Given the description of an element on the screen output the (x, y) to click on. 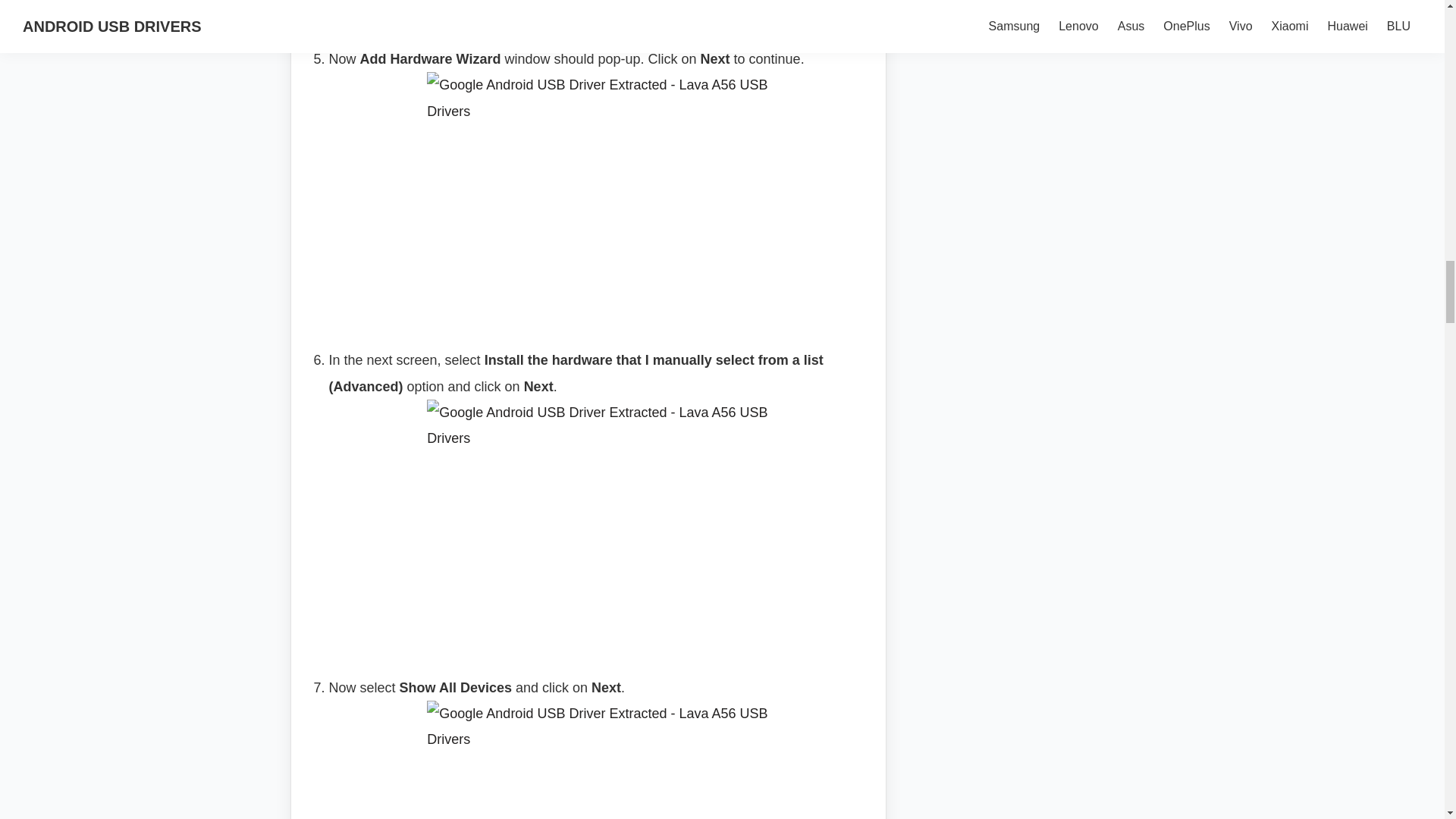
Google Android USB Driver Extracted - Lava A56 USB Drivers (597, 198)
Google Android USB Driver Extracted - Lava A56 USB Drivers (597, 760)
Google Android USB Driver Extracted - Lava A56 USB Drivers (597, 525)
Google Android USB Driver Extracted - Lava A56 USB Drivers (597, 11)
